Given the description of an element on the screen output the (x, y) to click on. 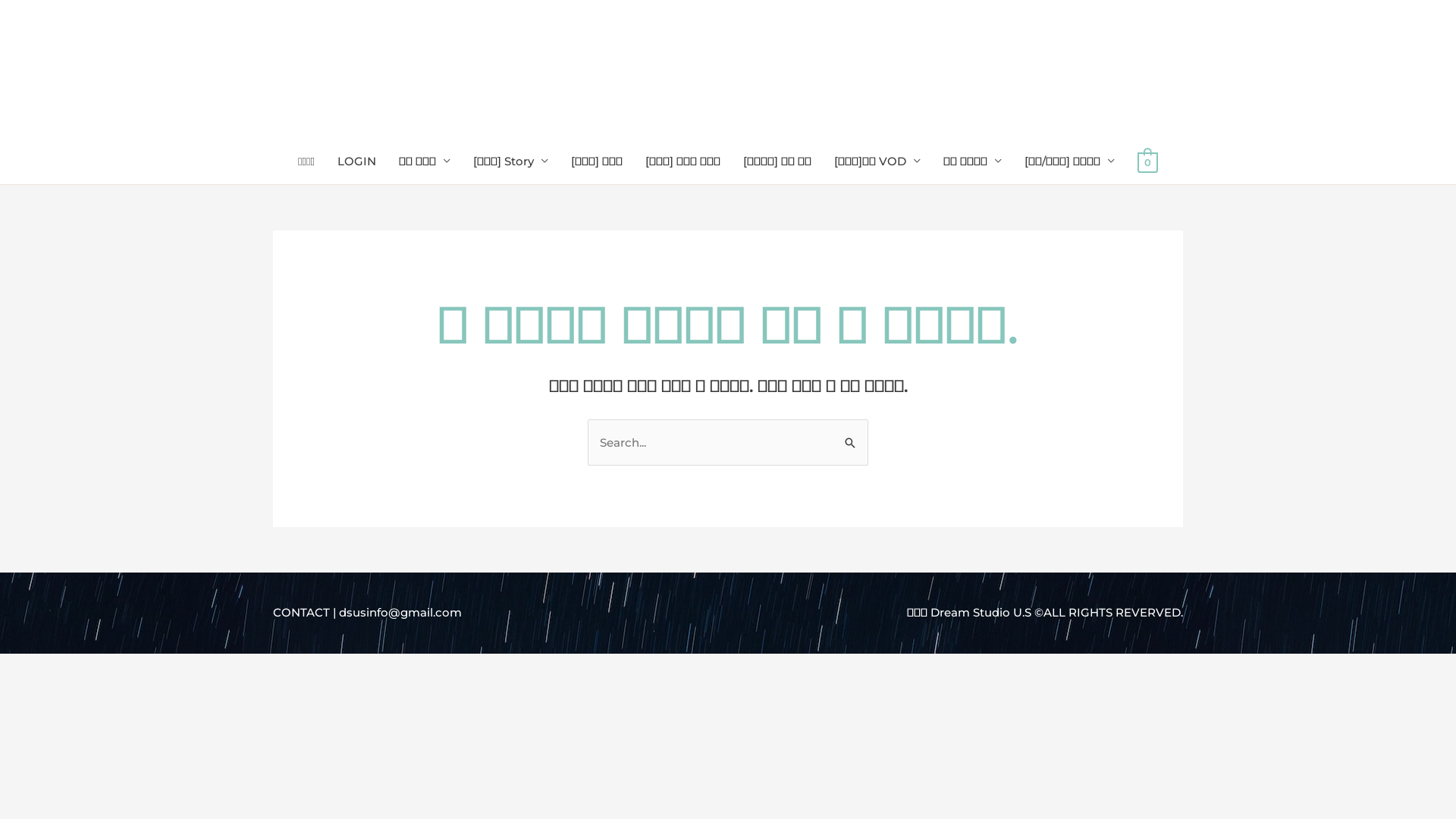
LOGIN Element type: text (356, 161)
0 Element type: text (1147, 160)
